Given the description of an element on the screen output the (x, y) to click on. 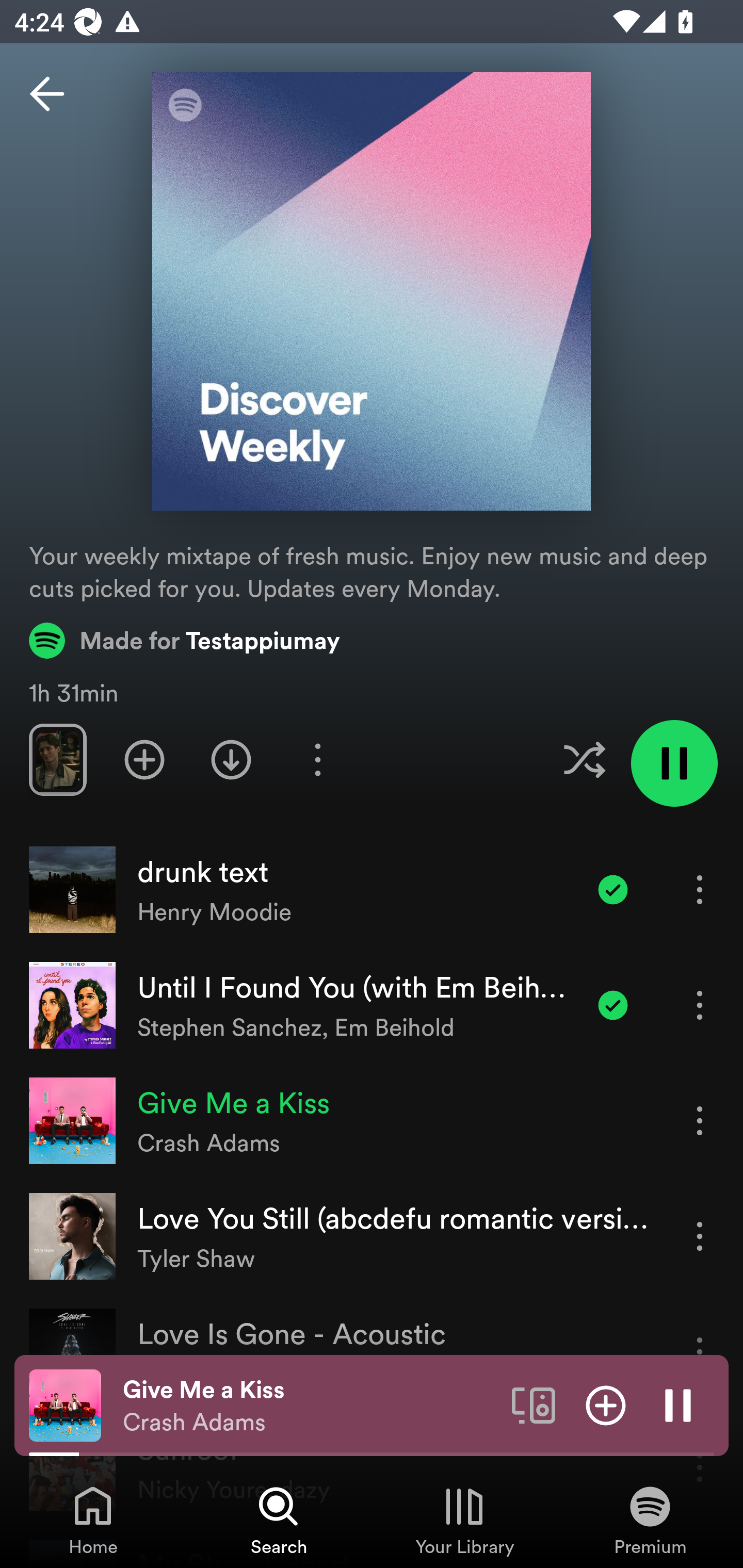
Back (46, 93)
Made for Testappiumay (184, 640)
Swipe through previews of tracks in this playlist. (57, 759)
Add playlist to Your Library (144, 759)
Download (230, 759)
More options for playlist Discover Weekly (317, 759)
Enable shuffle for this playlist (583, 759)
Pause playlist (674, 763)
Item added (612, 889)
More options for song drunk text (699, 889)
Item added (612, 1004)
More options for song Give Me a Kiss (699, 1120)
Give Me a Kiss Crash Adams (309, 1405)
The cover art of the currently playing track (64, 1404)
Connect to a device. Opens the devices menu (533, 1404)
Add item (605, 1404)
Pause (677, 1404)
Home, Tab 1 of 4 Home Home (92, 1519)
Search, Tab 2 of 4 Search Search (278, 1519)
Your Library, Tab 3 of 4 Your Library Your Library (464, 1519)
Premium, Tab 4 of 4 Premium Premium (650, 1519)
